Given the description of an element on the screen output the (x, y) to click on. 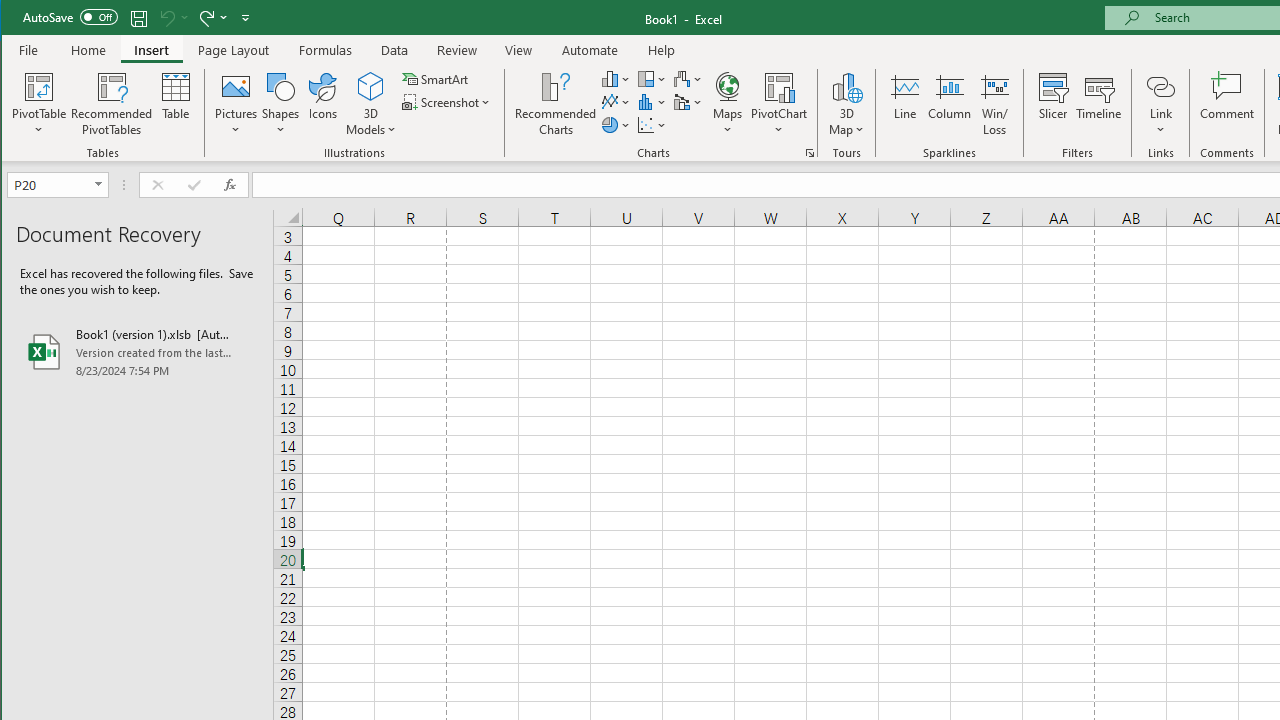
Icons (323, 104)
Screenshot (447, 101)
Recommended Charts (809, 152)
Insert Column or Bar Chart (616, 78)
PivotTable (39, 104)
Recommended PivotTables (111, 104)
